Given the description of an element on the screen output the (x, y) to click on. 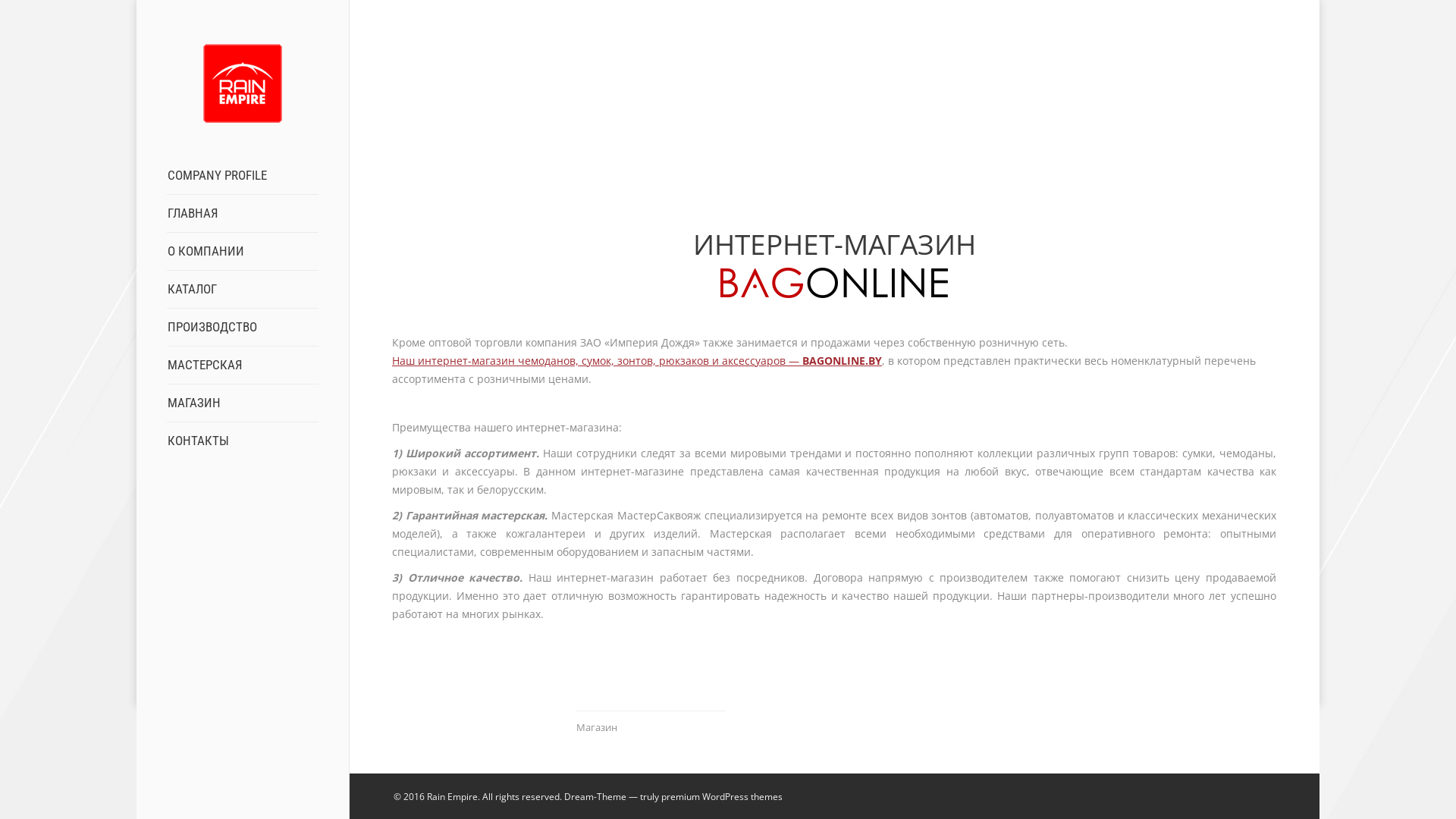
premium WordPress themes Element type: text (721, 796)
COMPANY PROFILE Element type: text (216, 175)
